Given the description of an element on the screen output the (x, y) to click on. 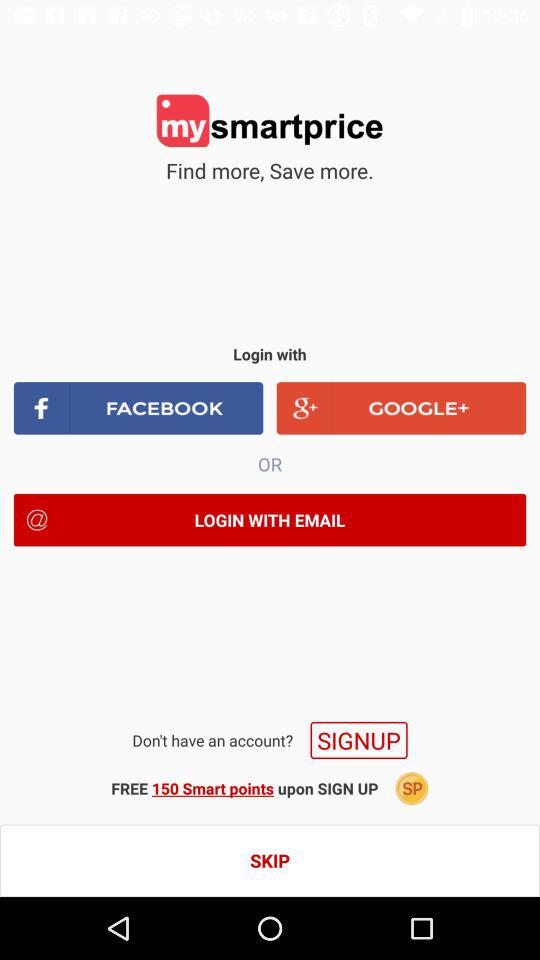
select item below the login with email item (358, 739)
